Given the description of an element on the screen output the (x, y) to click on. 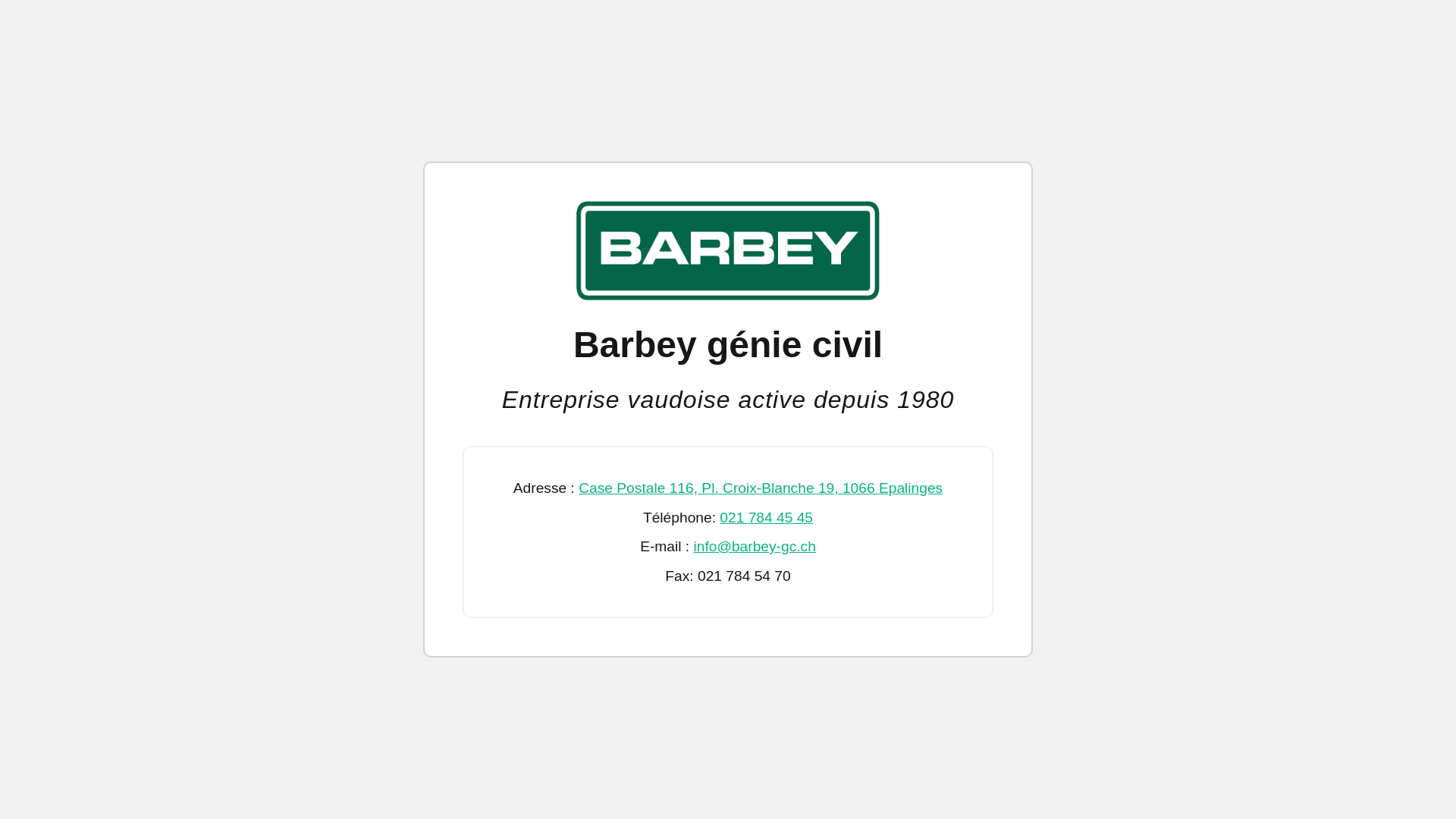
021 784 45 45 Element type: text (765, 517)
info@barbey-gc.ch Element type: text (754, 546)
Case Postale 116, Pl. Croix-Blanche 19, 1066 Epalinges Element type: text (760, 487)
